Given the description of an element on the screen output the (x, y) to click on. 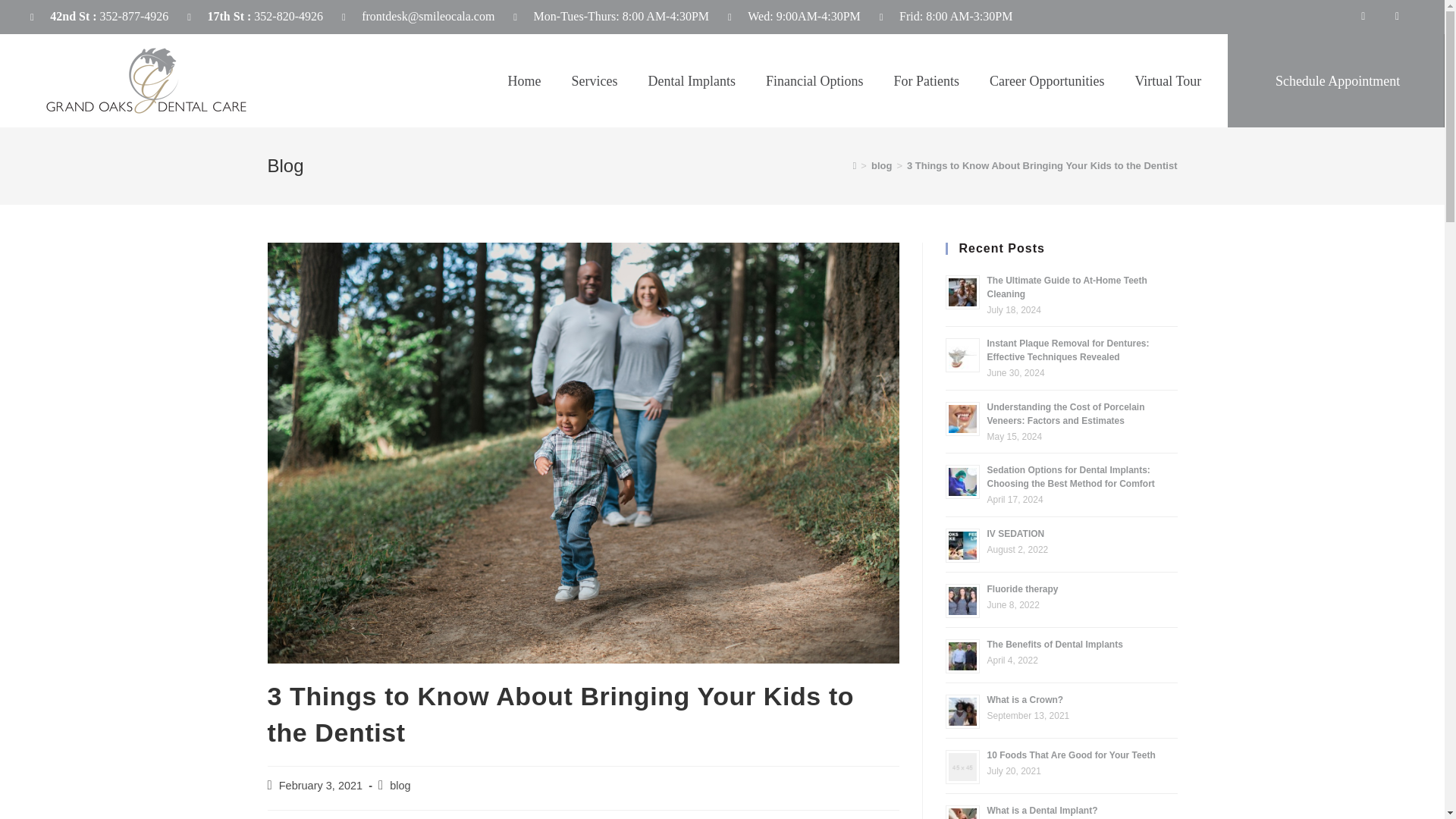
17th St : 352-820-4926 (255, 16)
Home (524, 79)
Services (594, 79)
42nd St : 352-877-4926 (99, 16)
